Given the description of an element on the screen output the (x, y) to click on. 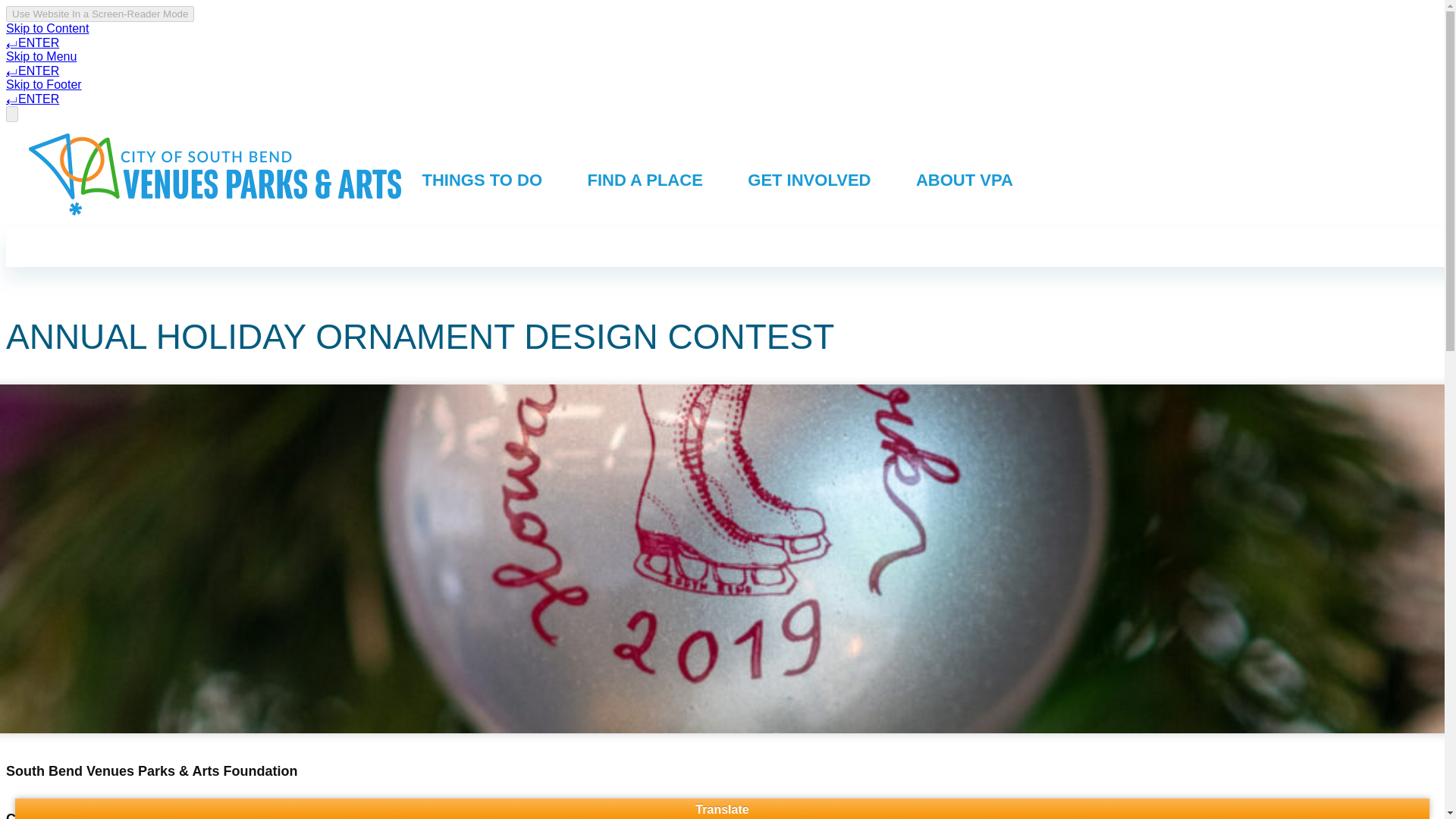
THINGS TO DO (481, 176)
GET INVOLVED (809, 176)
FIND A PLACE (644, 176)
ABOUT VPA (963, 176)
